Given the description of an element on the screen output the (x, y) to click on. 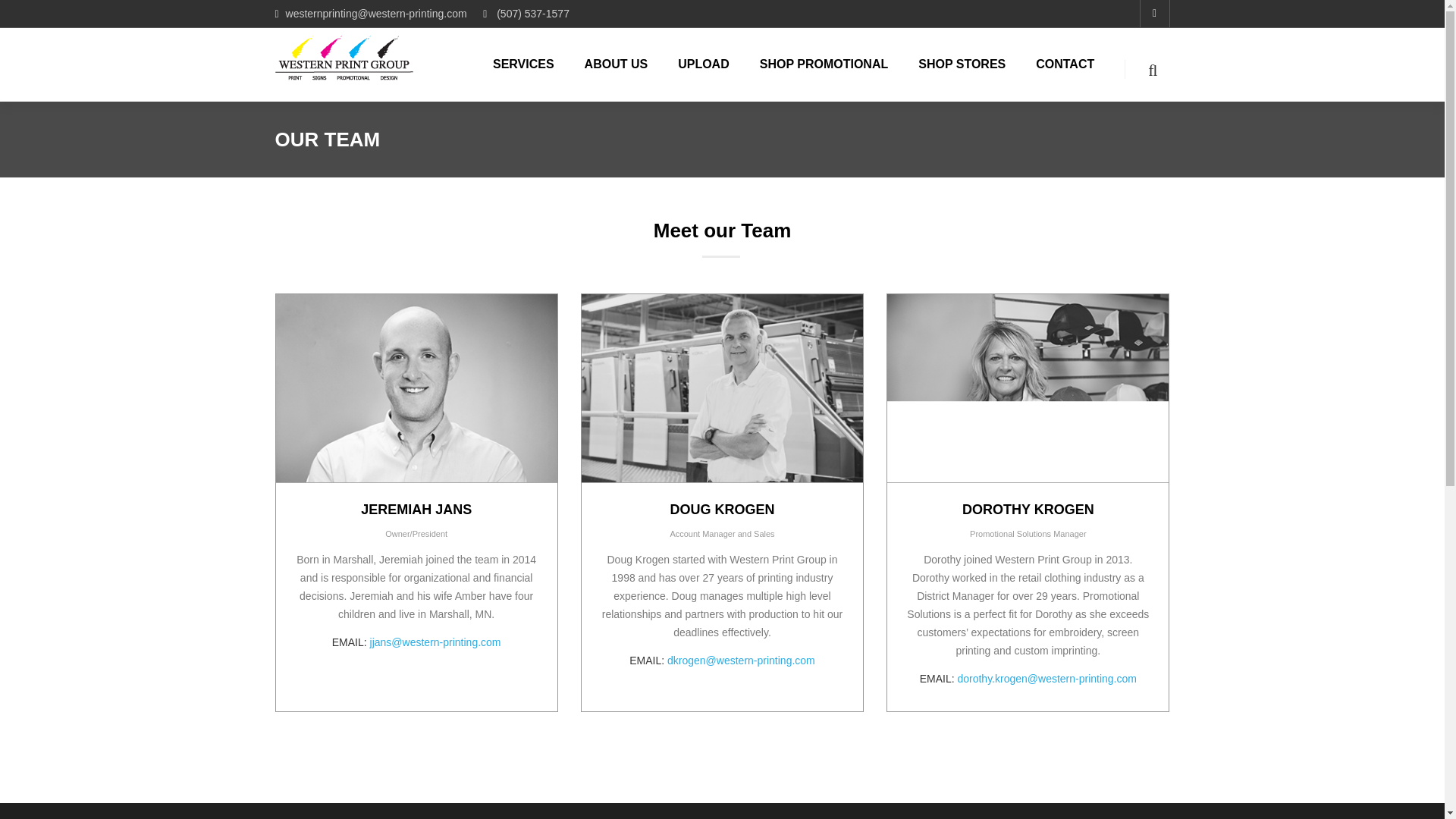
SERVICES (539, 79)
ABOUT US (631, 79)
CONTACT (1079, 79)
SHOP STORES (976, 79)
JEREMIAH JANS (416, 509)
UPLOAD (719, 79)
SHOP PROMOTIONAL (839, 79)
Facebook (1153, 13)
